Given the description of an element on the screen output the (x, y) to click on. 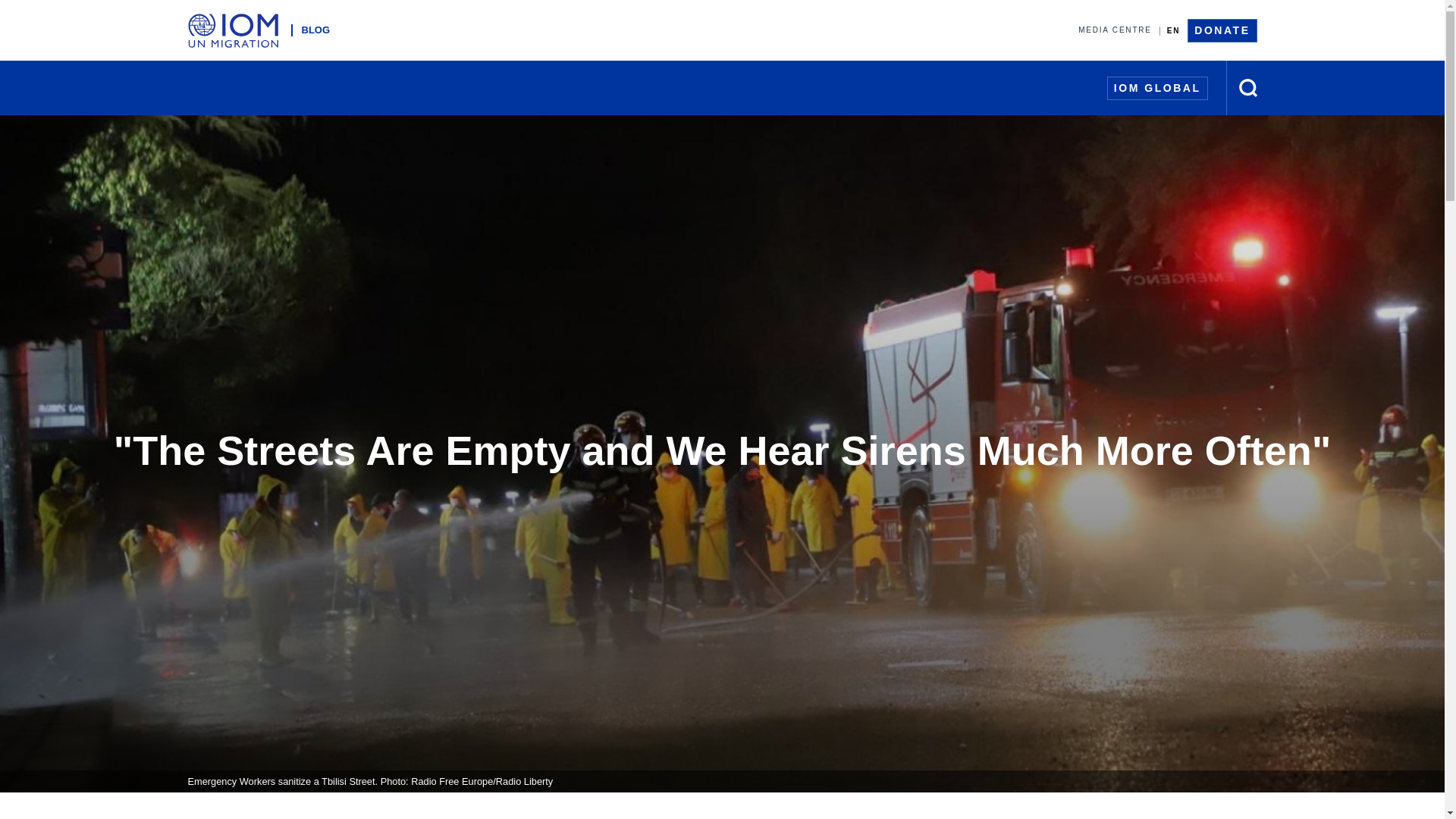
IOM GLOBAL (1157, 87)
Home (236, 30)
Skip to main content (721, 1)
EN (1173, 30)
Click here to Search our website (1248, 87)
DONATE (1222, 29)
MEDIA CENTRE (1114, 30)
